Given the description of an element on the screen output the (x, y) to click on. 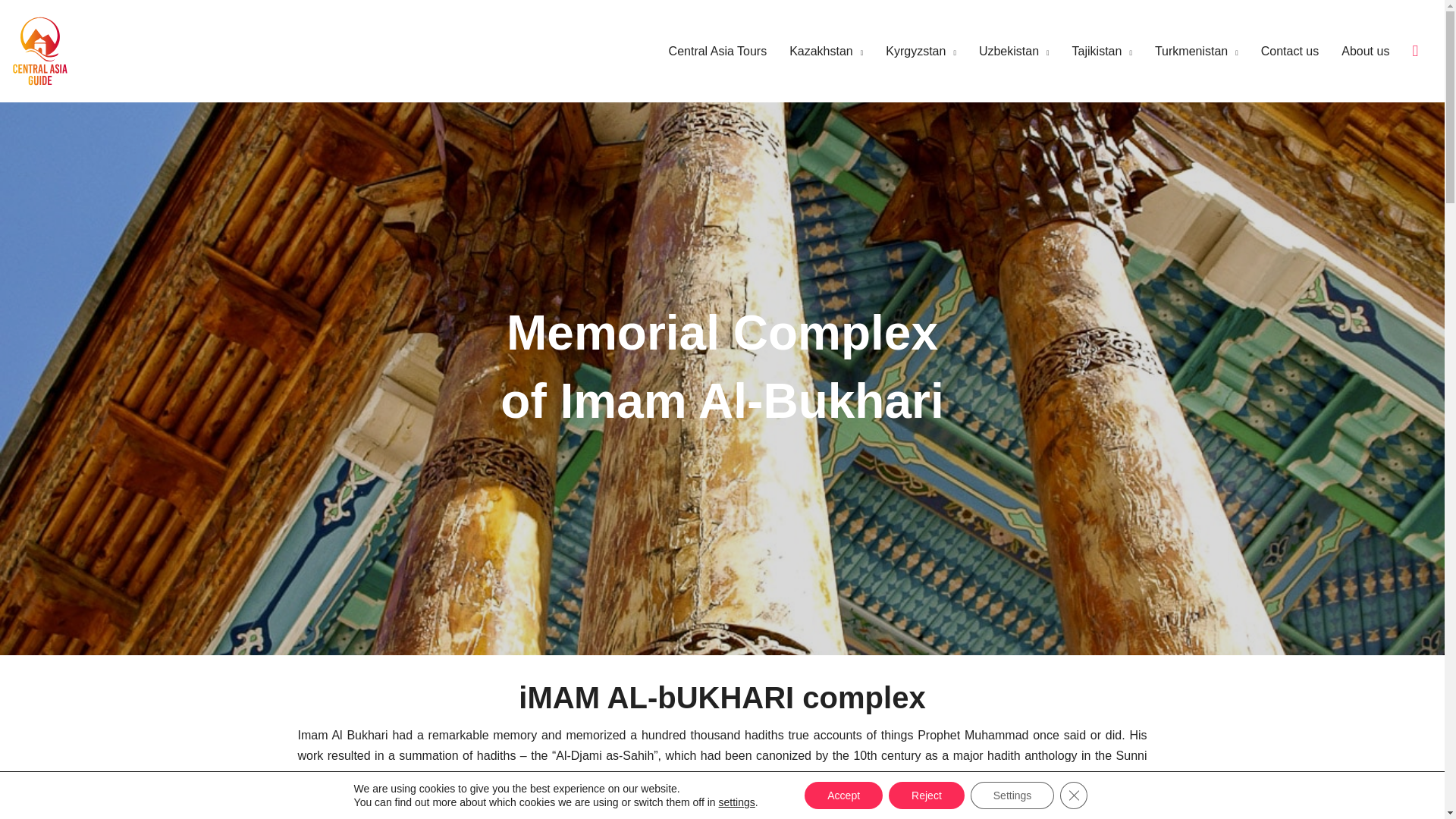
Central Asia Tours (706, 51)
Tajikistan (1090, 51)
Kazakhstan (815, 51)
Uzbekistan (1002, 51)
Kyrgyzstan (909, 51)
Turkmenistan (1185, 51)
